Given the description of an element on the screen output the (x, y) to click on. 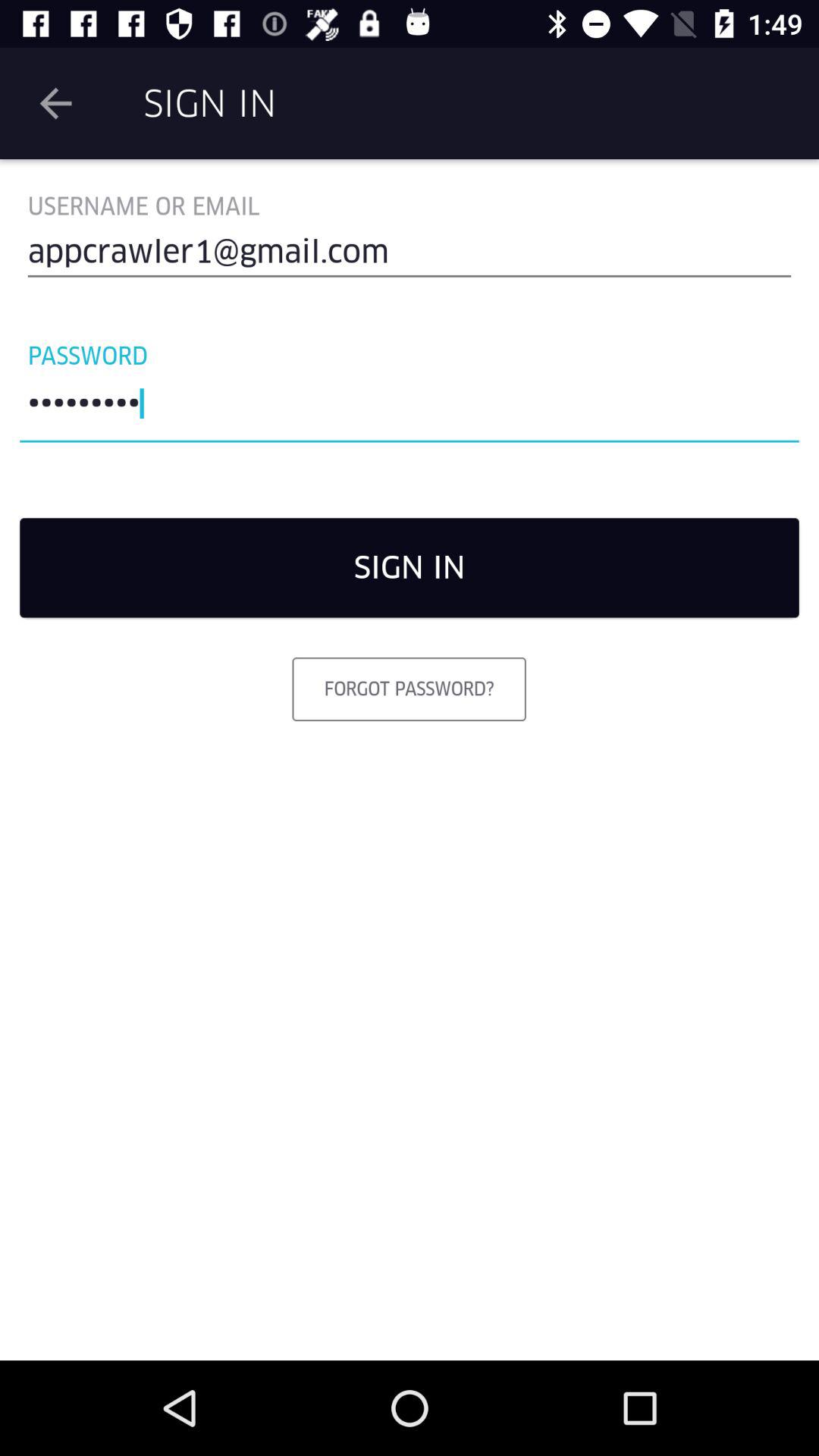
jump until the crowd3116 (409, 407)
